Given the description of an element on the screen output the (x, y) to click on. 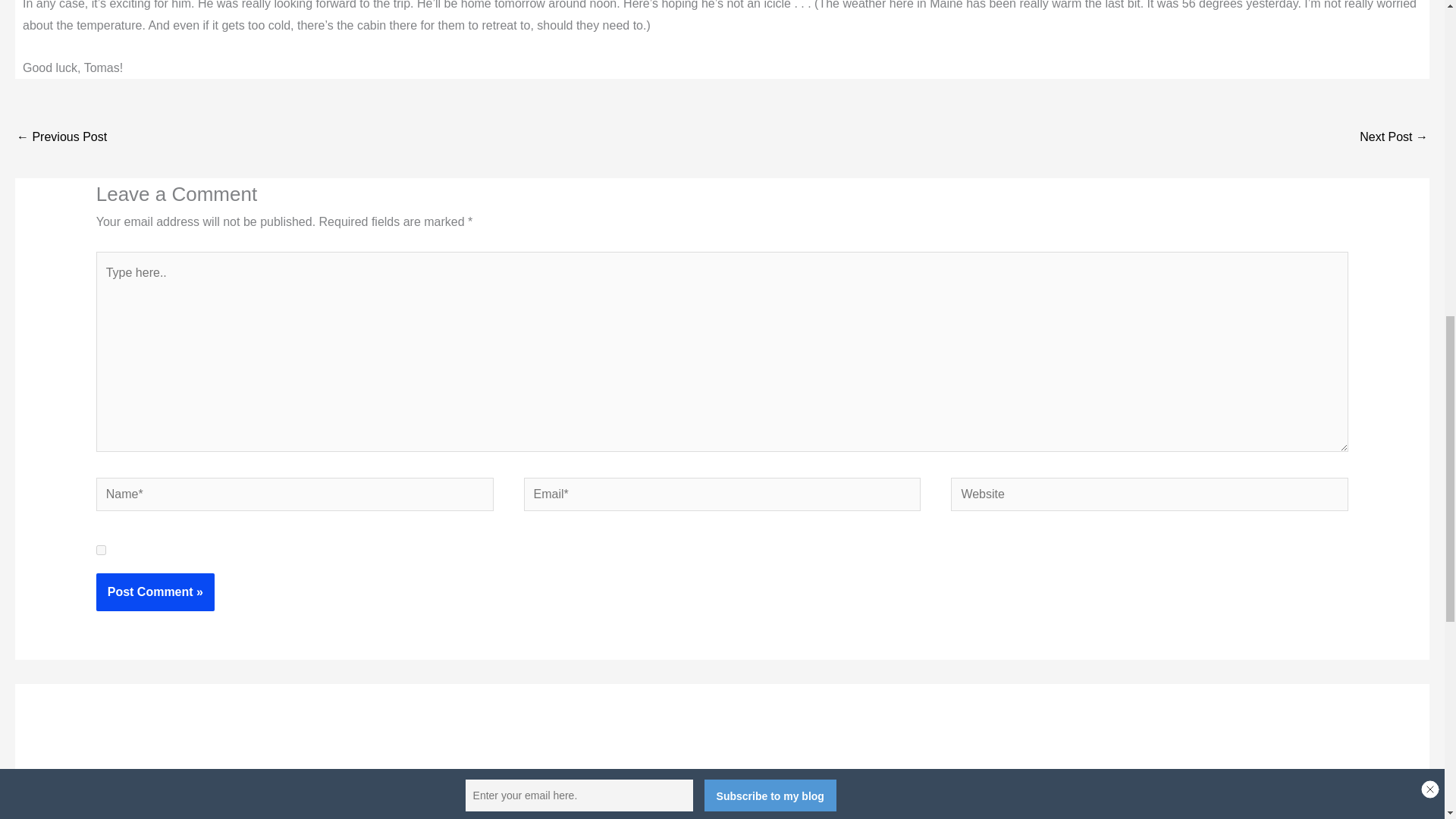
Behind the Scenes on Another Birthday Video (61, 138)
1 (101, 550)
Heavy Meta 1:1 (1393, 138)
